Given the description of an element on the screen output the (x, y) to click on. 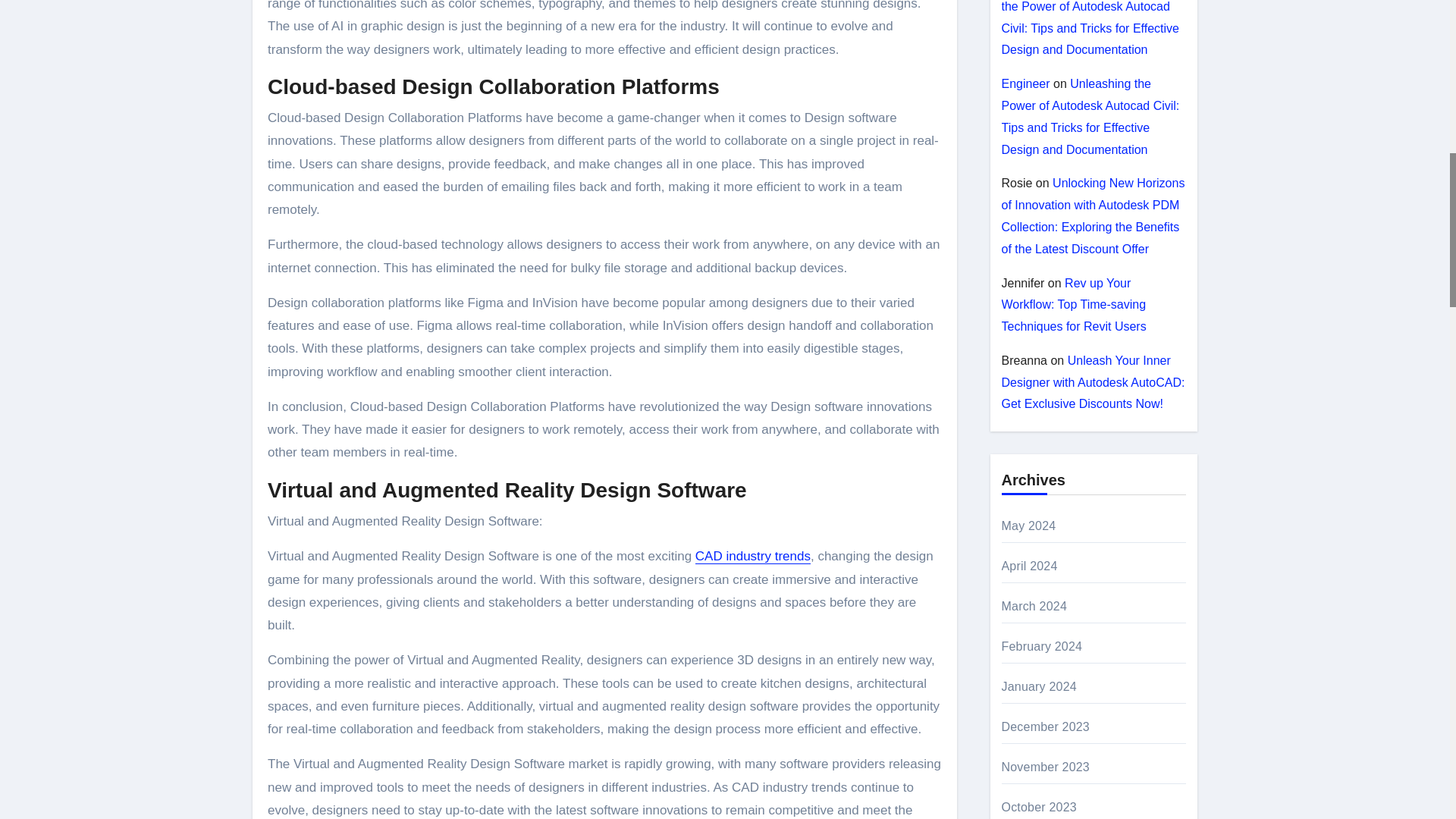
CAD industry trends (752, 555)
